Given the description of an element on the screen output the (x, y) to click on. 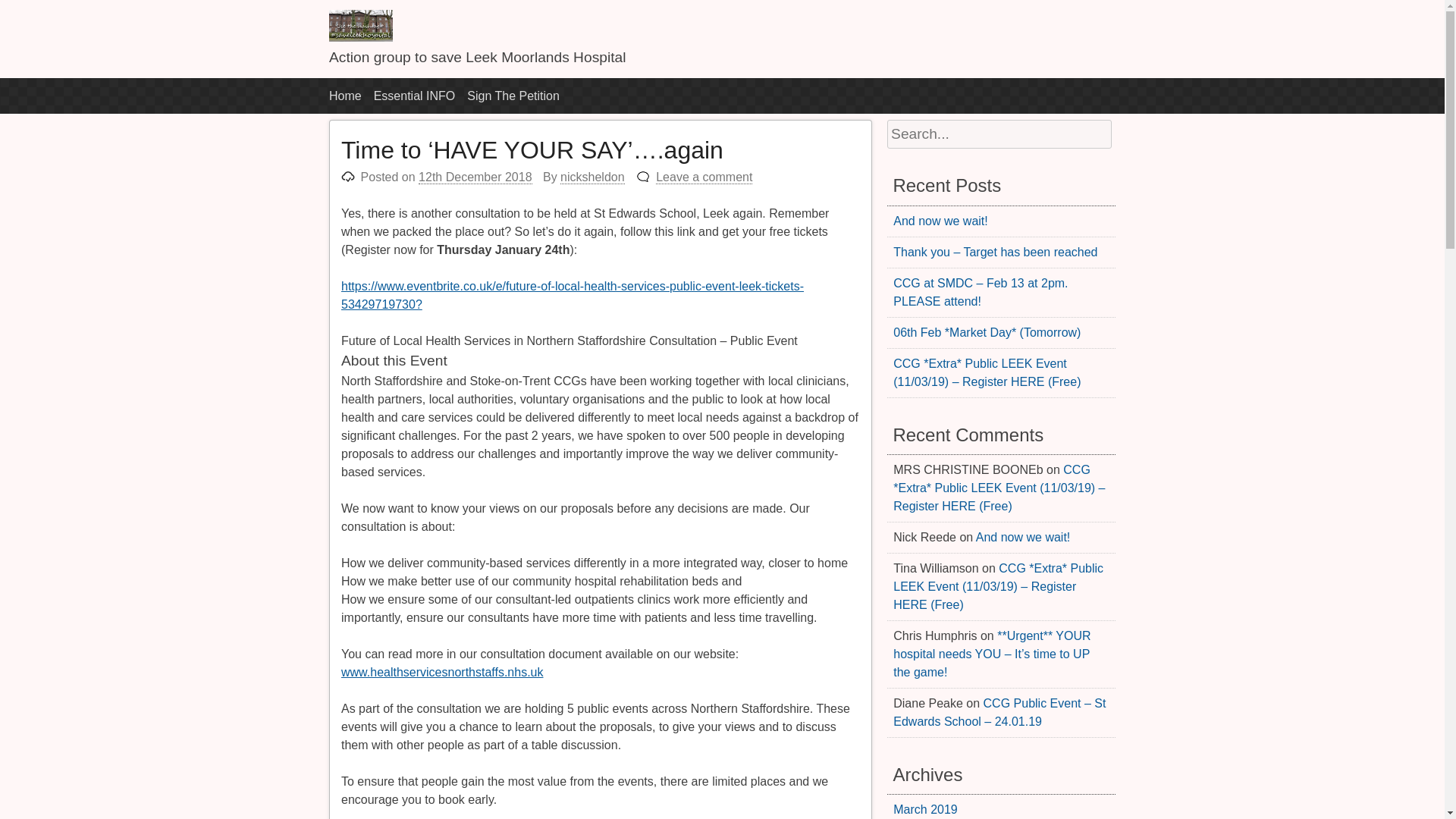
www.healthservicesnorthstaffs.nhs.uk (441, 671)
Essential INFO (414, 95)
And now we wait! (940, 220)
Search for: (998, 133)
Search (32, 13)
Leave a comment (704, 177)
Home (345, 95)
Save Leek Moorlands Hospital (361, 37)
And now we wait! (1022, 536)
nicksheldon (592, 177)
12th December 2018 (475, 177)
Sign The Petition (513, 95)
